Given the description of an element on the screen output the (x, y) to click on. 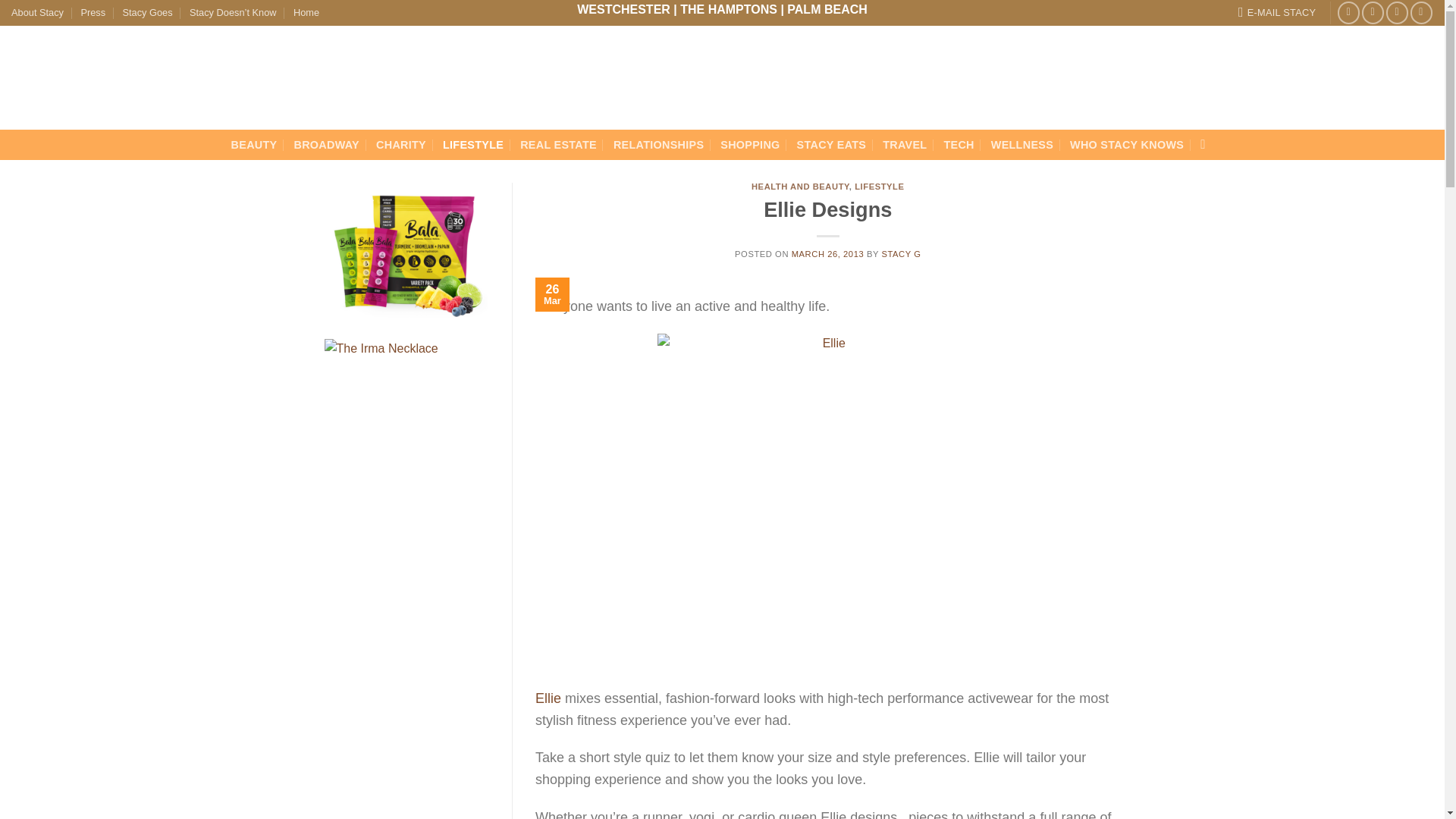
TECH (958, 144)
BROADWAY (326, 144)
SHOPPING (749, 144)
Stacyknows - Connecting Cool People to Cool Things (186, 77)
The Irma Necklace (406, 407)
Home (306, 12)
CHARITY (400, 144)
THE HAMPTONS (728, 9)
LIFESTYLE (472, 144)
WESTCHESTER (622, 9)
PALM BEACH (826, 9)
TRAVEL (904, 144)
BEAUTY (254, 144)
E-MAIL STACY (1277, 12)
STACY EATS (831, 144)
